Given the description of an element on the screen output the (x, y) to click on. 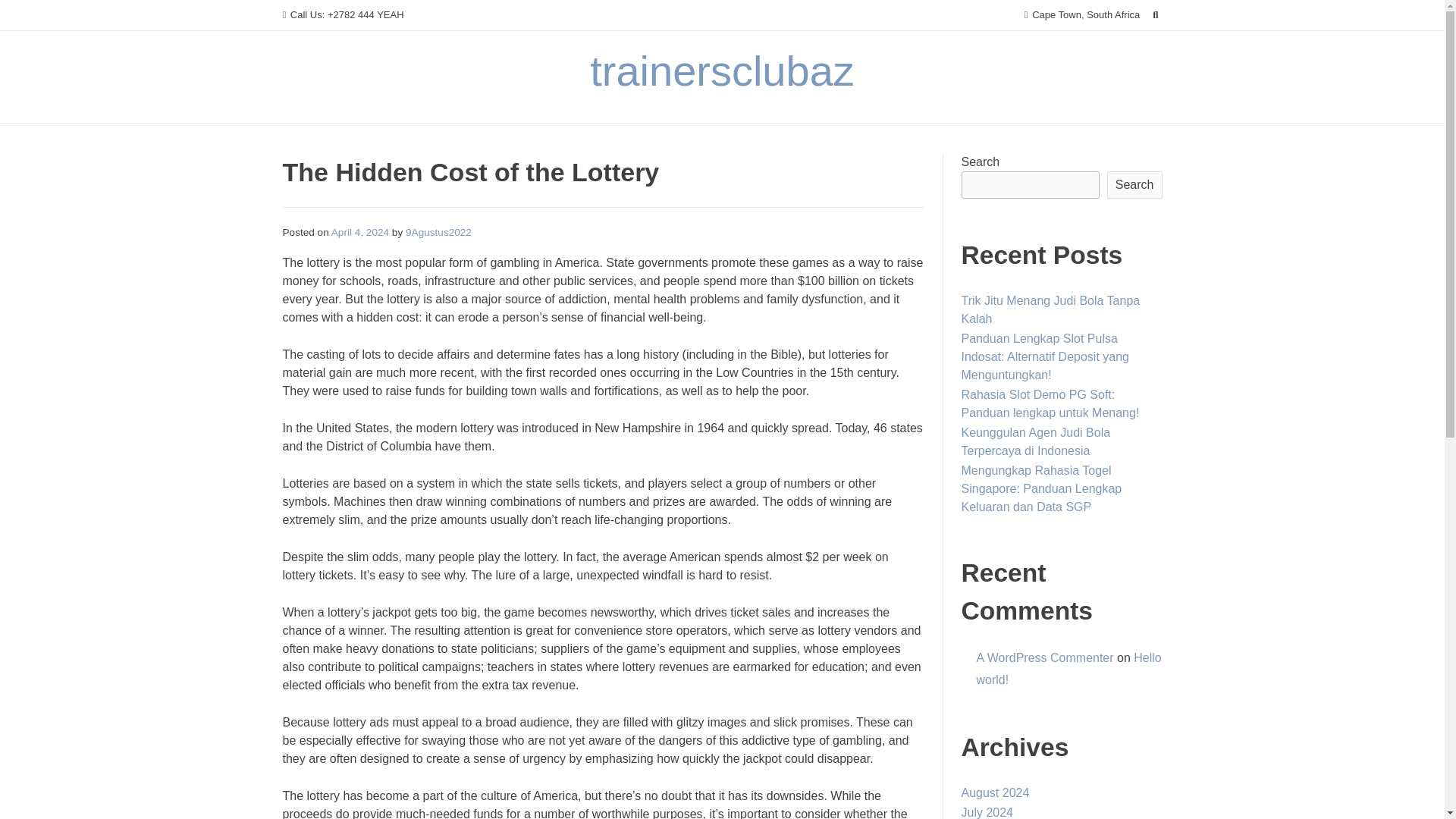
9Agustus2022 (438, 232)
April 4, 2024 (359, 232)
A WordPress Commenter (1044, 657)
Rahasia Slot Demo PG Soft: Panduan lengkap untuk Menang! (1050, 403)
Search (1133, 185)
July 2024 (986, 812)
Hello world! (1068, 668)
trainersclubaz (721, 70)
Search (27, 13)
Trik Jitu Menang Judi Bola Tanpa Kalah (1050, 309)
August 2024 (994, 792)
Keunggulan Agen Judi Bola Terpercaya di Indonesia (1035, 441)
